Given the description of an element on the screen output the (x, y) to click on. 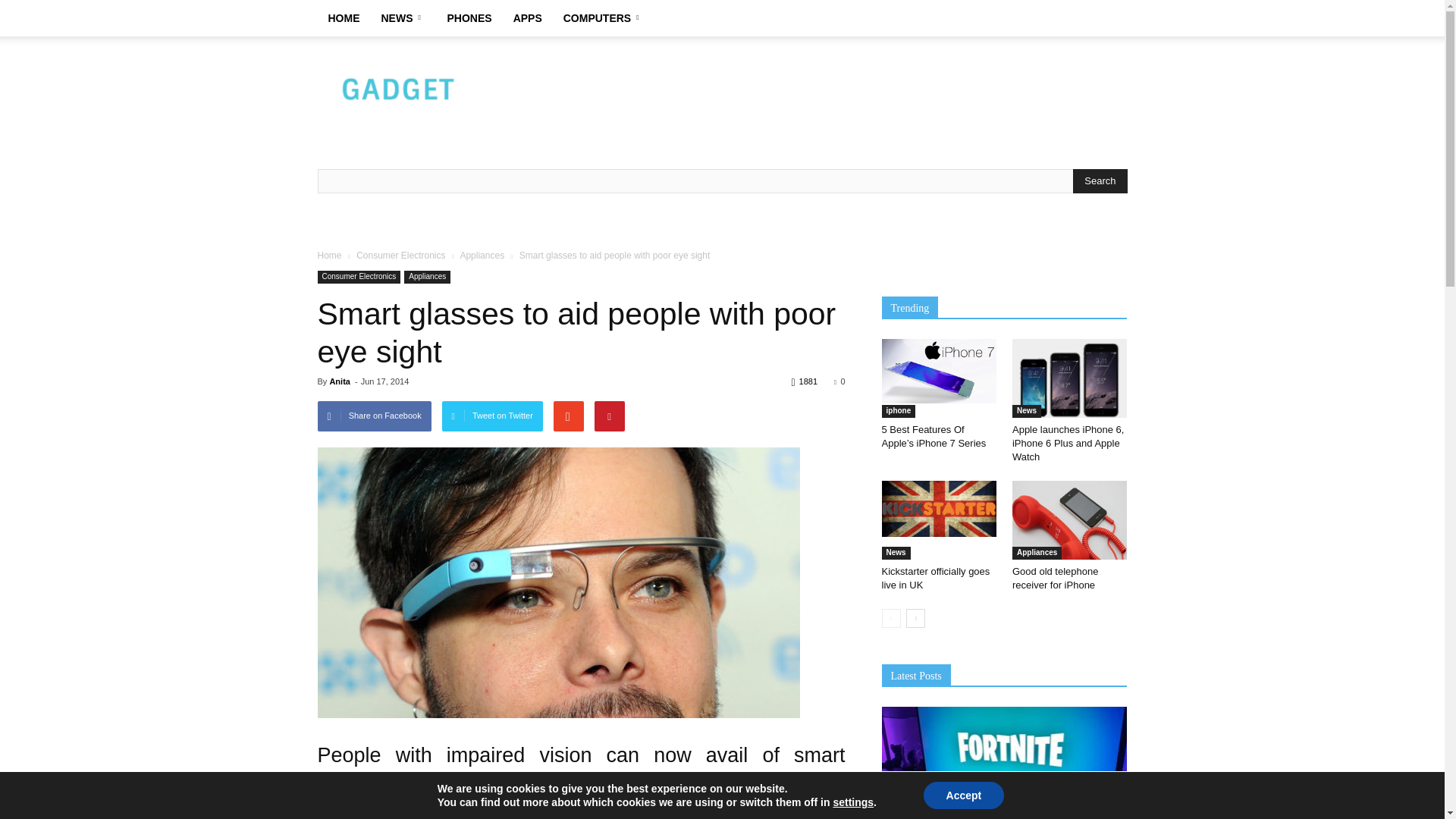
Search (1099, 180)
NEWS (402, 18)
APPS (527, 18)
HOME (343, 18)
PHONES (469, 18)
COMPUTERS (603, 18)
